Given the description of an element on the screen output the (x, y) to click on. 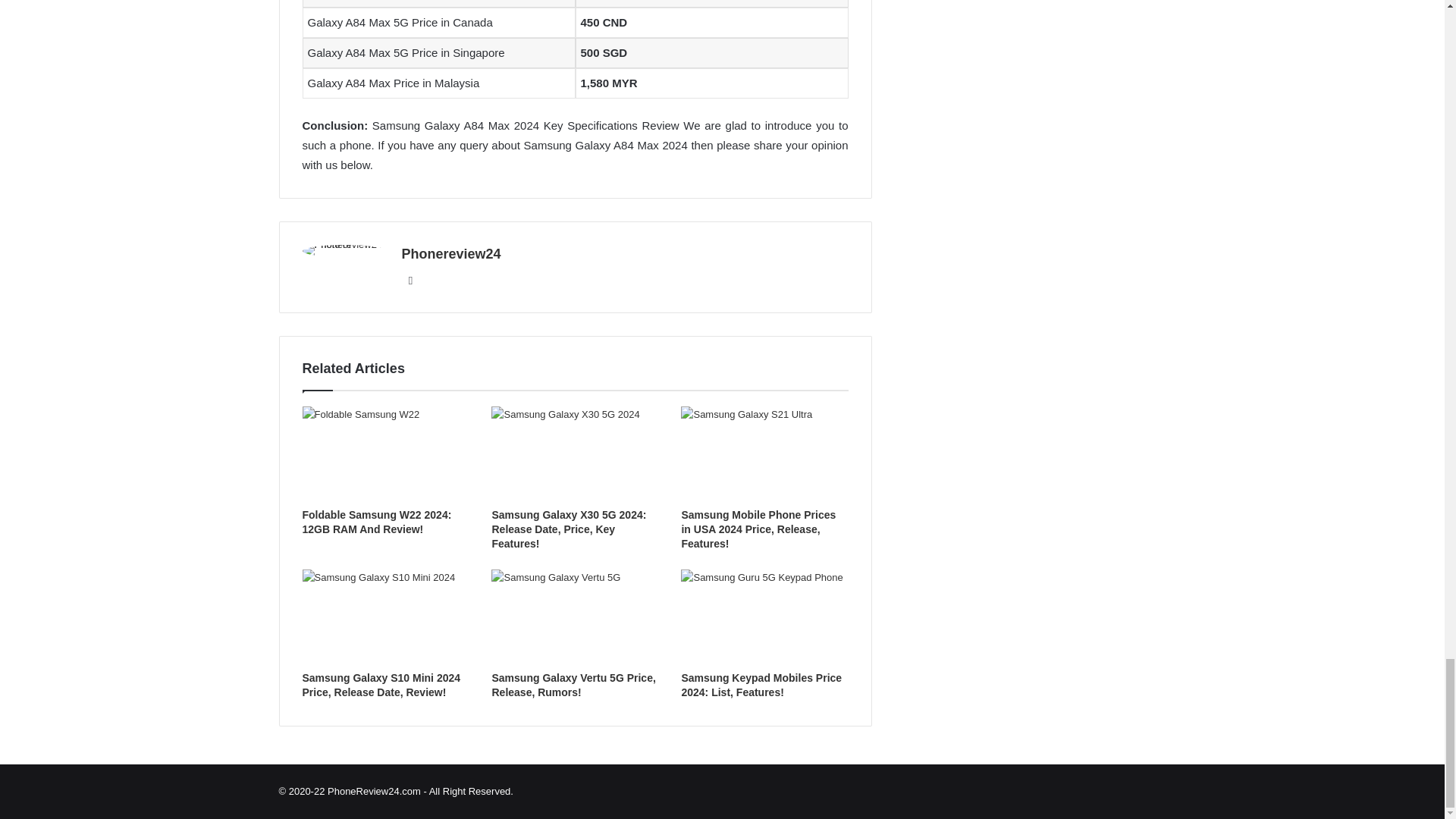
Website (410, 280)
Samsung Galaxy S10 Mini 2024 Price, Release Date, Review! (380, 684)
Foldable Samsung W22 2024: 12GB RAM And Review! (376, 521)
Phonereview24 (450, 253)
